Given the description of an element on the screen output the (x, y) to click on. 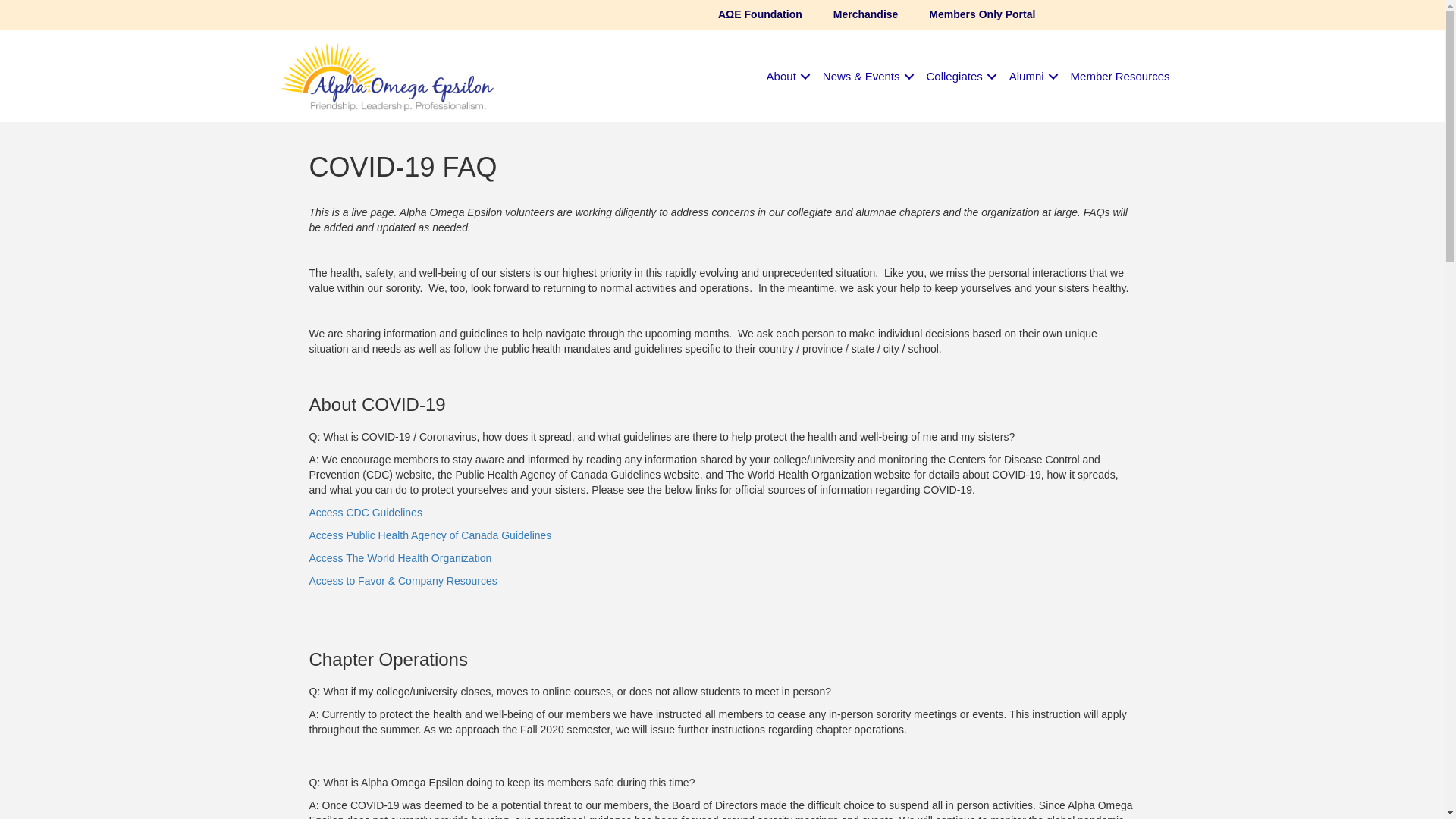
Merchandise (866, 15)
Access CDC Guidelines (365, 512)
About (785, 75)
Members Only Portal (981, 15)
Access The World Health Organization (400, 558)
Alumni (1031, 75)
Collegiates (959, 75)
Access Public Health Agency of Canada Guidelines (429, 535)
Member Resources (1119, 75)
